Given the description of an element on the screen output the (x, y) to click on. 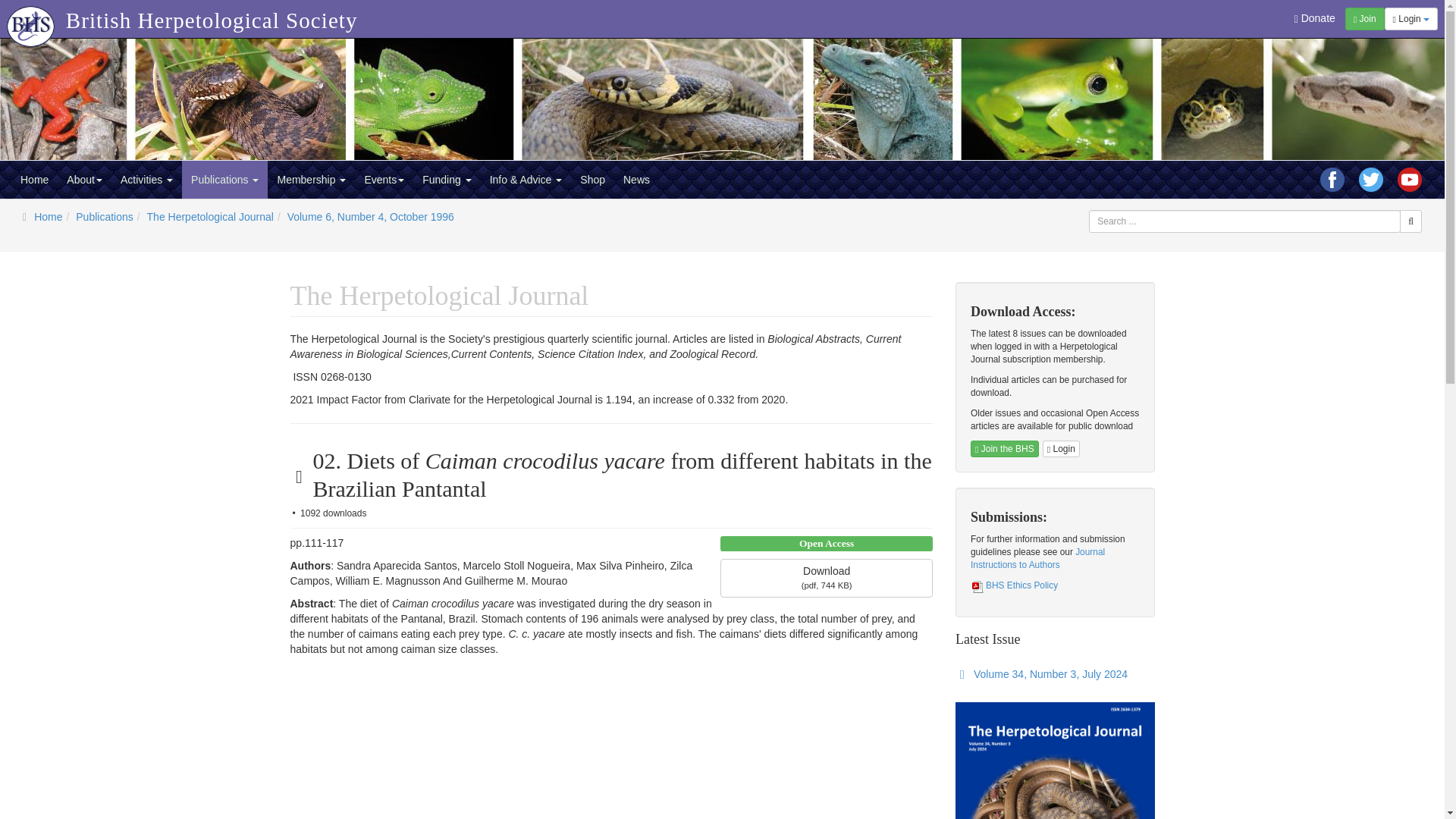
Home (34, 179)
BHS Ethics Policy (1014, 584)
Login (1411, 18)
About (85, 179)
Donate (1314, 18)
Journal Instructions to Authors (1038, 558)
Join (1364, 18)
